Given the description of an element on the screen output the (x, y) to click on. 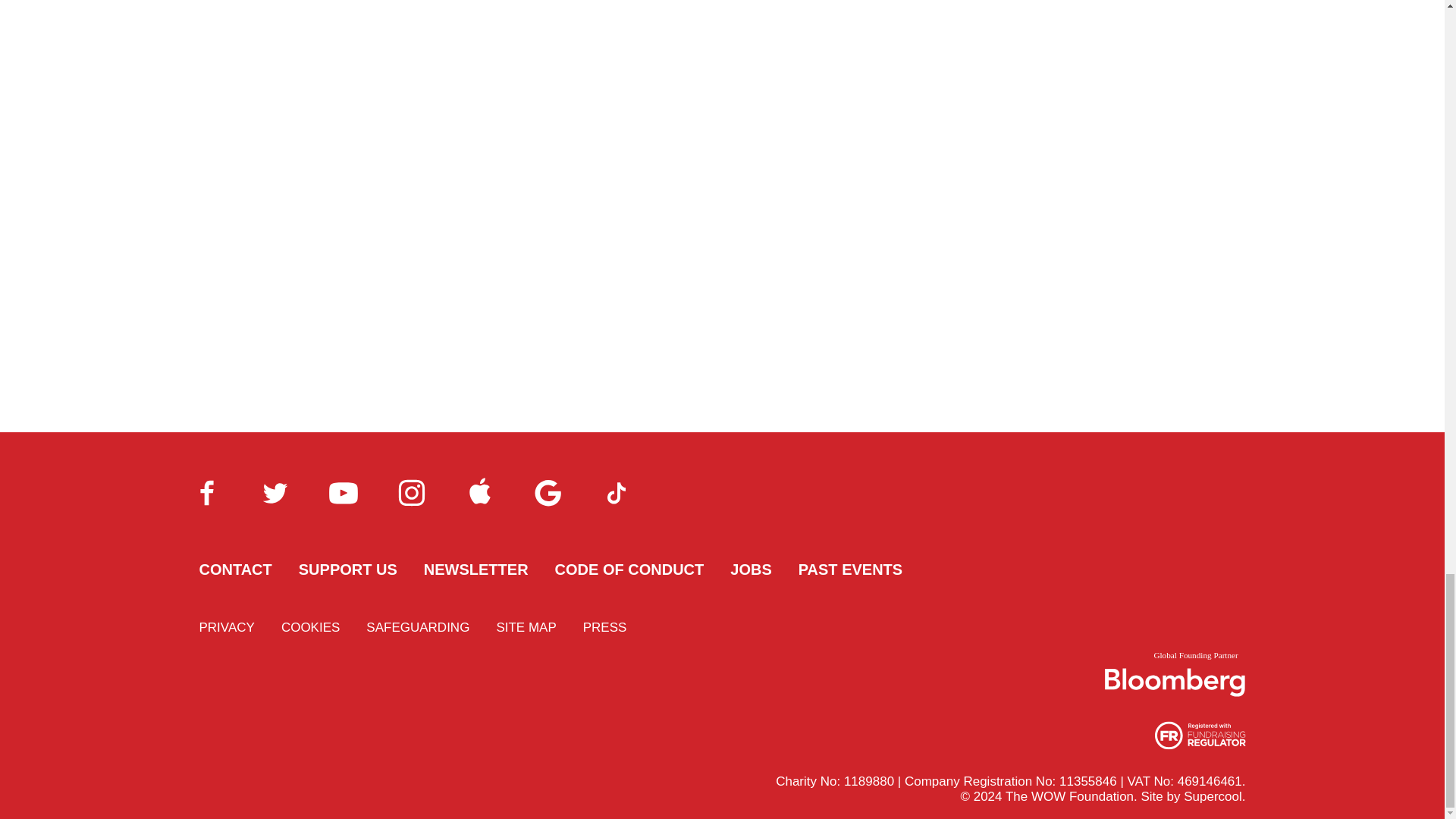
SAFEGUARDING (417, 626)
Google (547, 492)
CODE OF CONDUCT (629, 569)
SITE MAP (526, 626)
Instagram (410, 492)
Youtube (342, 492)
JOBS (750, 569)
SUPPORT US (347, 569)
CONTACT (234, 569)
PRESS (605, 626)
Apple (479, 492)
NEWSLETTER (475, 569)
Global Founding Partner (1174, 673)
PAST EVENTS (849, 569)
TikTok (615, 492)
